Given the description of an element on the screen output the (x, y) to click on. 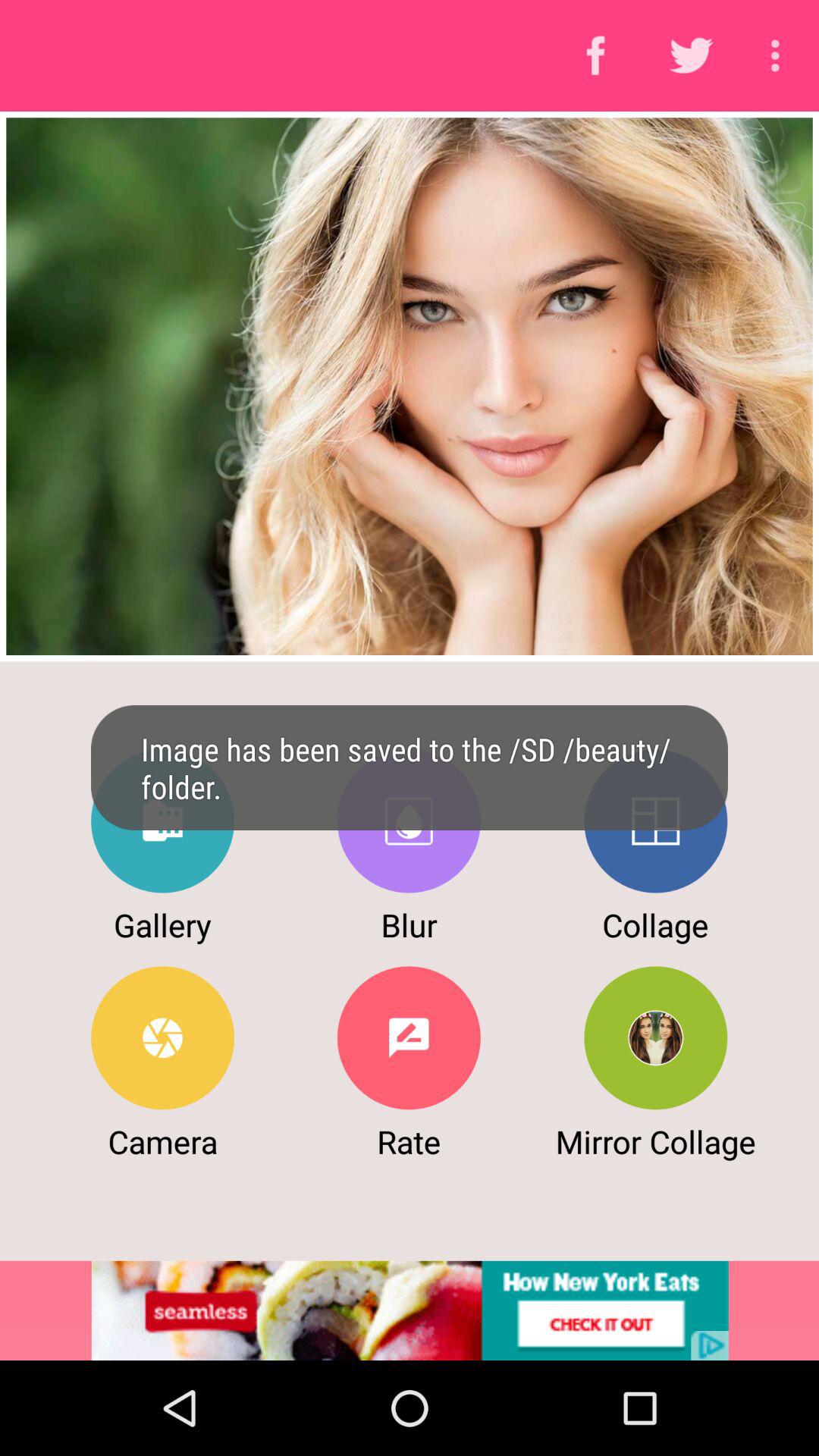
rating (408, 1037)
